Given the description of an element on the screen output the (x, y) to click on. 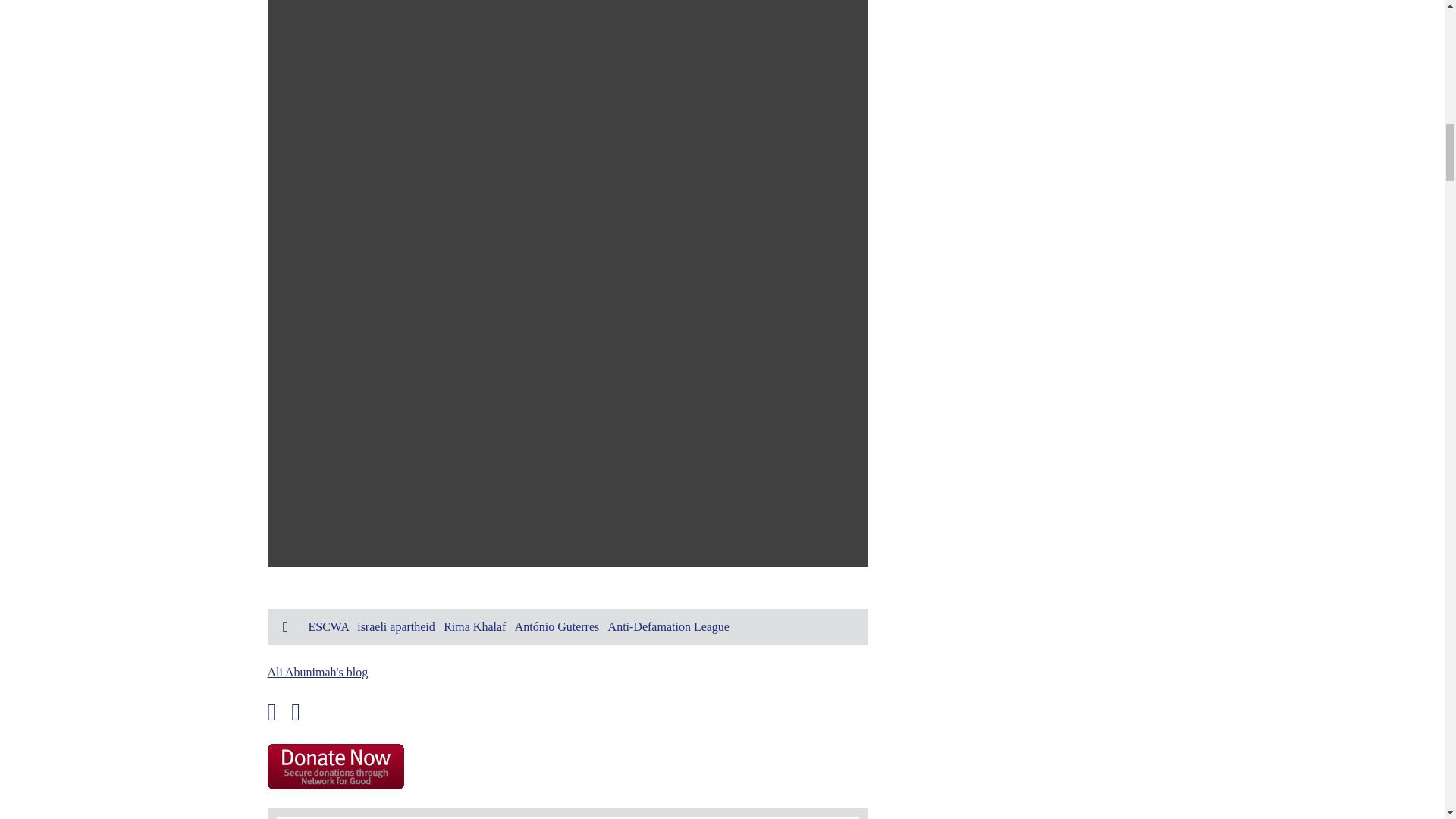
Anti-Defamation League (668, 626)
Read Ali Abunimah's latest blog entries. (317, 671)
Rima Khalaf (474, 626)
Ali Abunimah's blog (317, 671)
israeli apartheid (395, 626)
ESCWA (327, 626)
